Given the description of an element on the screen output the (x, y) to click on. 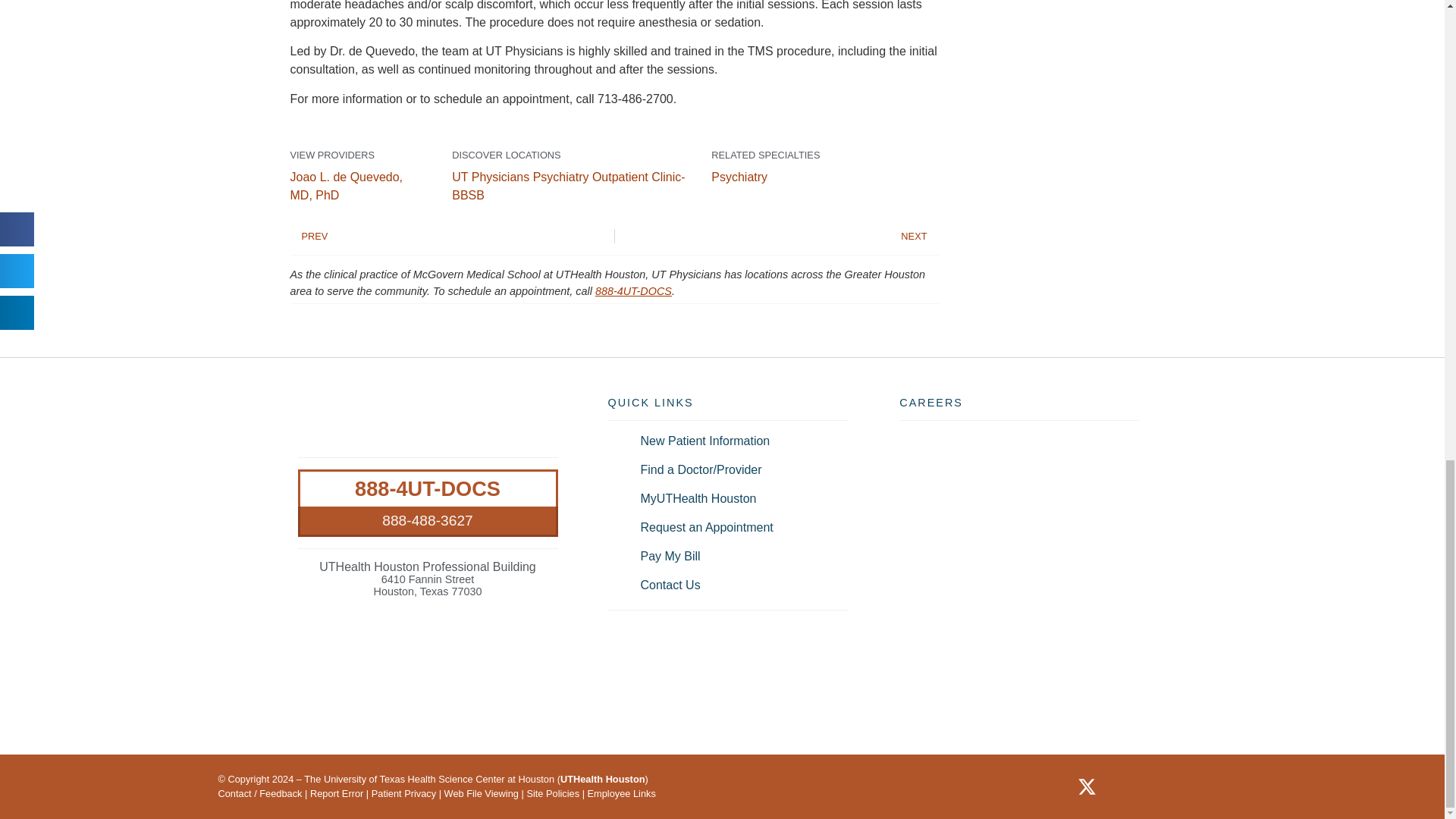
View Psychiatry (739, 176)
Visit our Report an Error page (336, 793)
Visit the Employee Links page (622, 793)
View UT Physicians Psychiatry Outpatient Clinic-BBSB (567, 185)
View Joao L. de Quevedo (346, 185)
About Your Visit (403, 793)
Visit the UTHealth Site (602, 778)
